Given the description of an element on the screen output the (x, y) to click on. 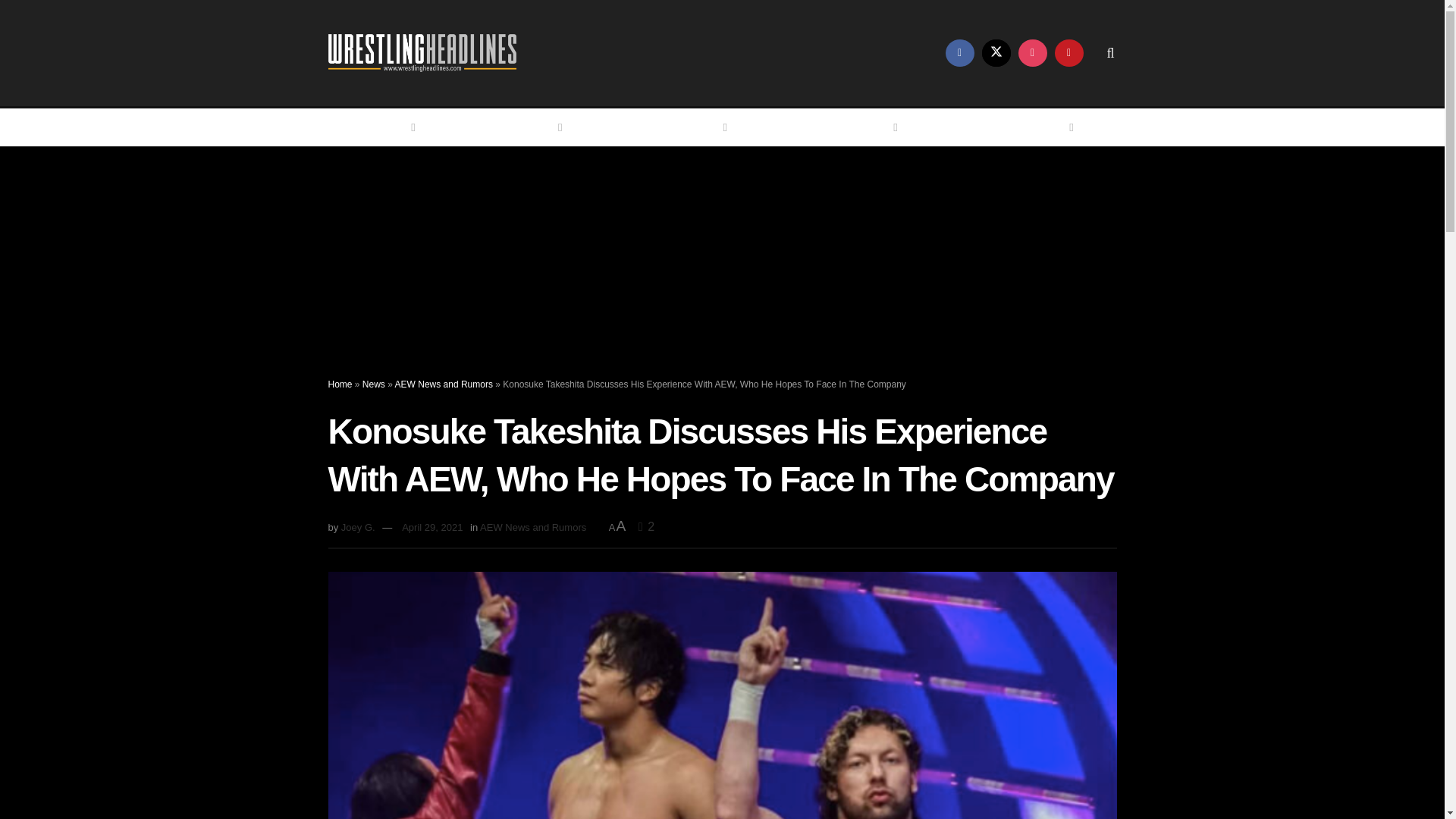
NEWS (539, 127)
RESULTS (695, 127)
HOME (392, 127)
COLUMNS (863, 127)
